Given the description of an element on the screen output the (x, y) to click on. 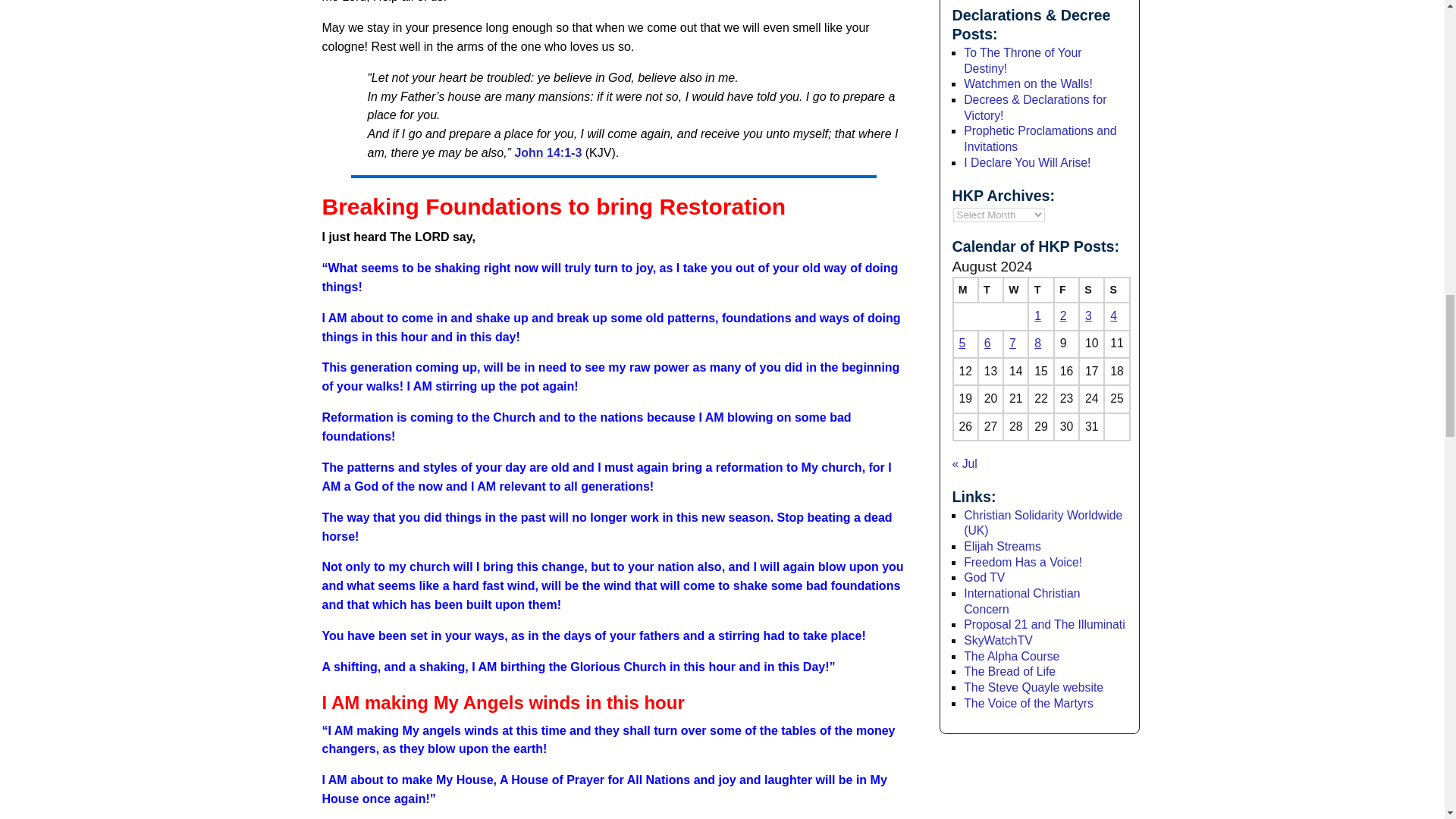
Wednesday (1015, 289)
Thursday (1039, 289)
Tuesday (990, 289)
Saturday (1090, 289)
Monday (964, 289)
Friday (1066, 289)
